Given the description of an element on the screen output the (x, y) to click on. 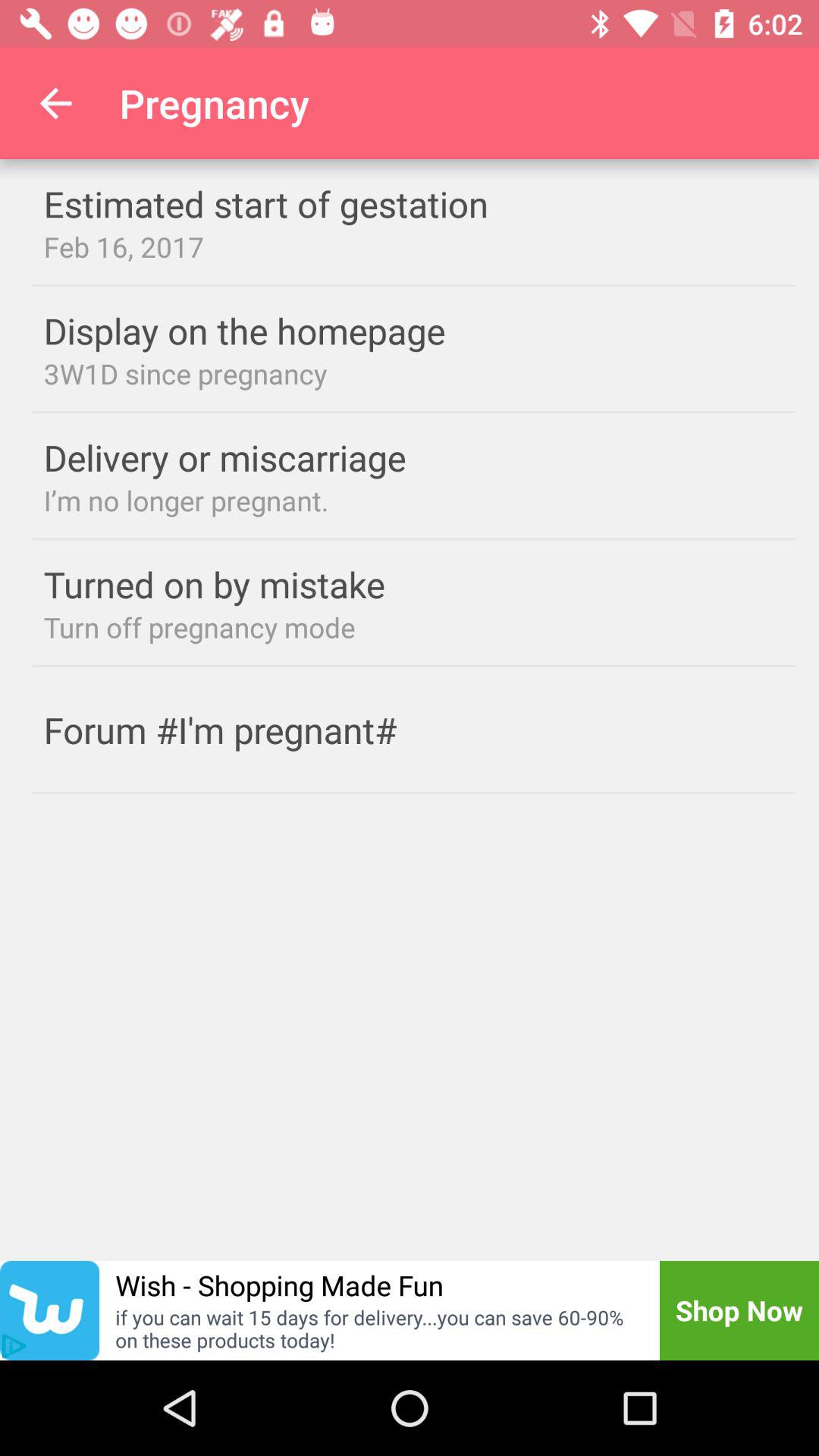
open icon to the right of if you can (739, 1310)
